Given the description of an element on the screen output the (x, y) to click on. 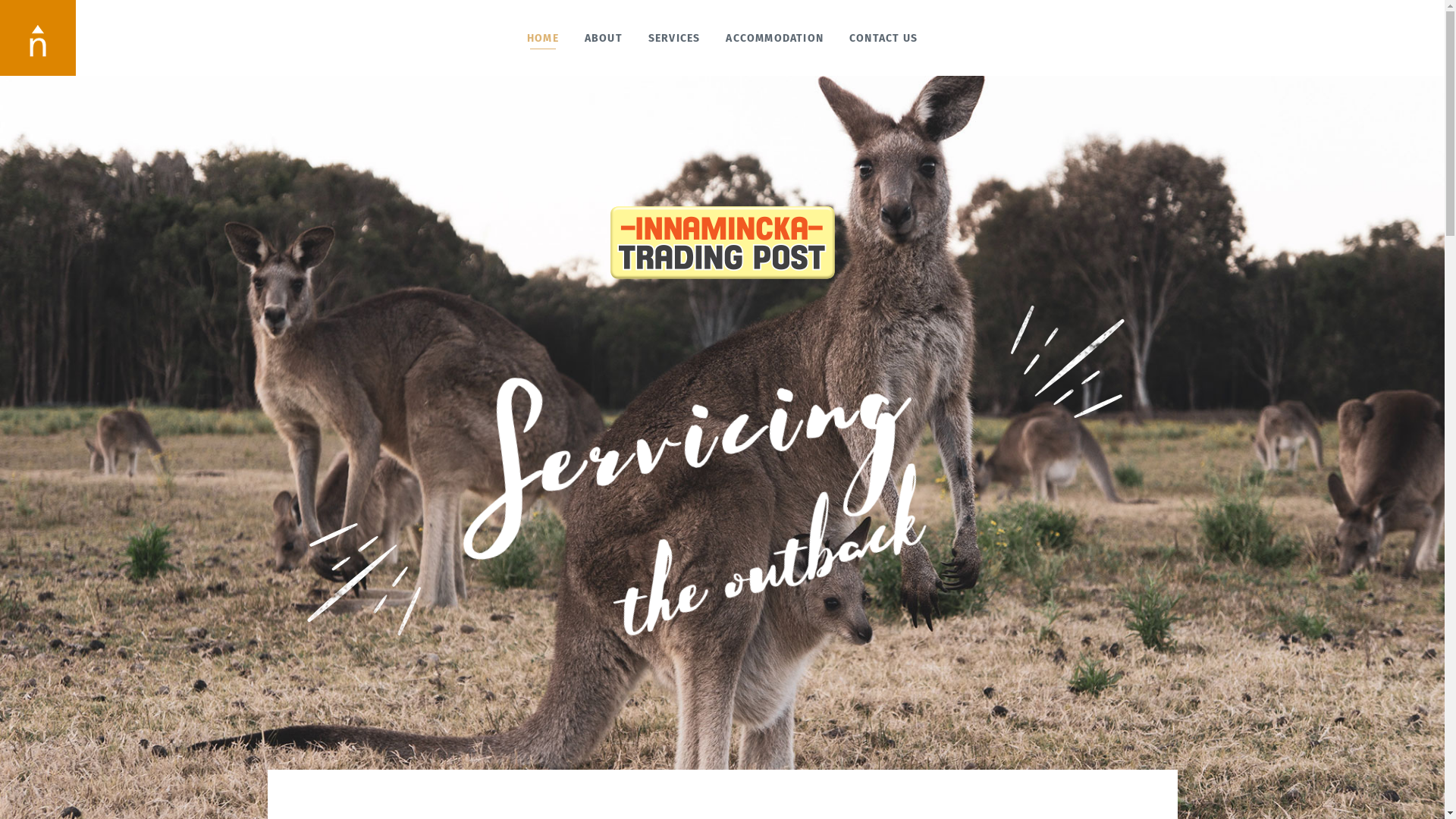
ACCOMMODATION Element type: text (774, 37)
CONTACT US Element type: text (882, 37)
SERVICES Element type: text (674, 37)
HOME Element type: text (542, 37)
ABOUT Element type: text (603, 37)
Back to Northern Interests Element type: hover (37, 37)
